Given the description of an element on the screen output the (x, y) to click on. 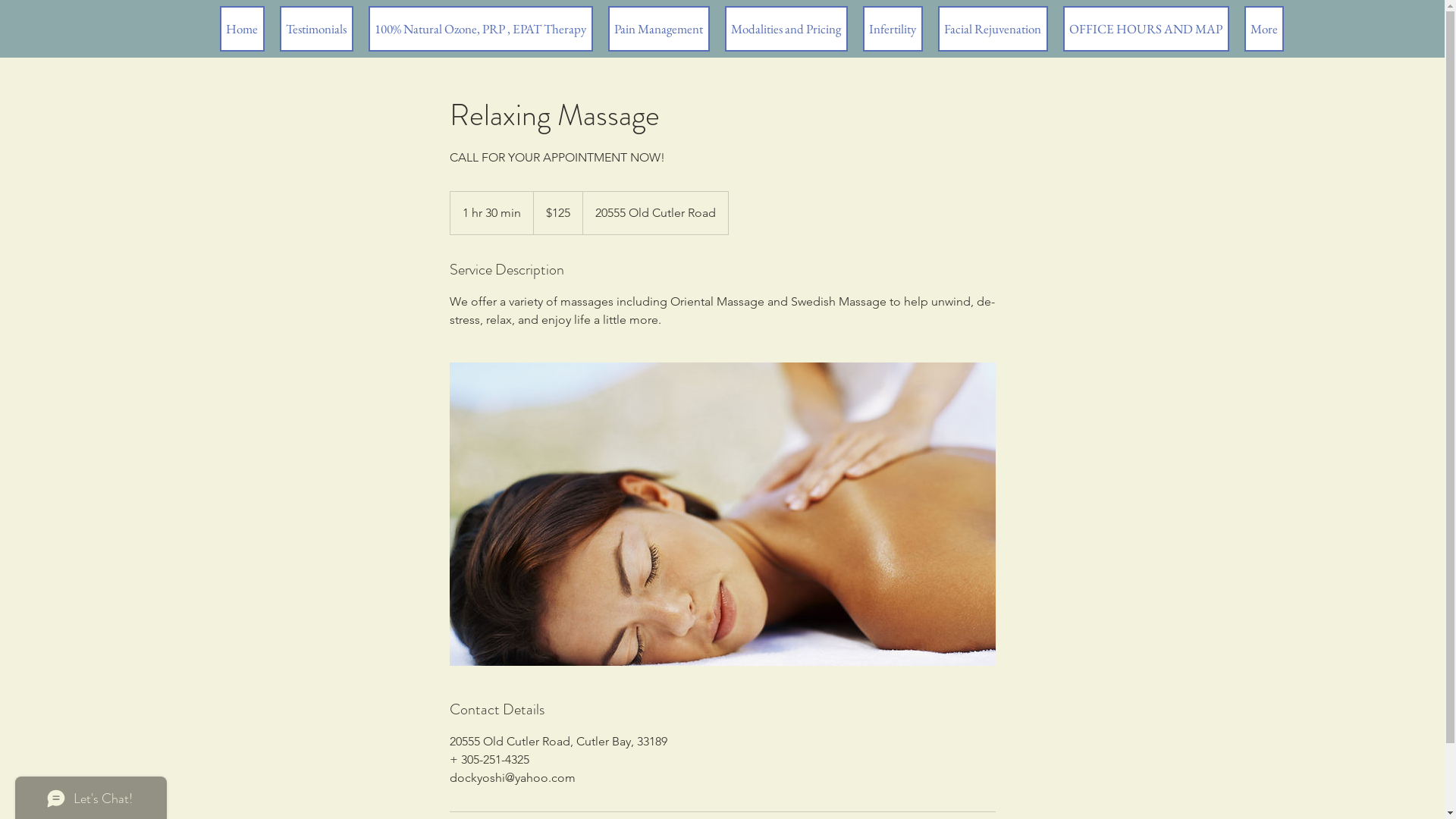
Pain Management Element type: text (658, 28)
OFFICE HOURS AND MAP Element type: text (1146, 28)
Home Element type: text (241, 28)
100% Natural Ozone, PRP , EPAT Therapy Element type: text (480, 28)
Modalities and Pricing Element type: text (785, 28)
Infertility Element type: text (892, 28)
Testimonials Element type: text (315, 28)
Facial Rejuvenation Element type: text (992, 28)
